Given the description of an element on the screen output the (x, y) to click on. 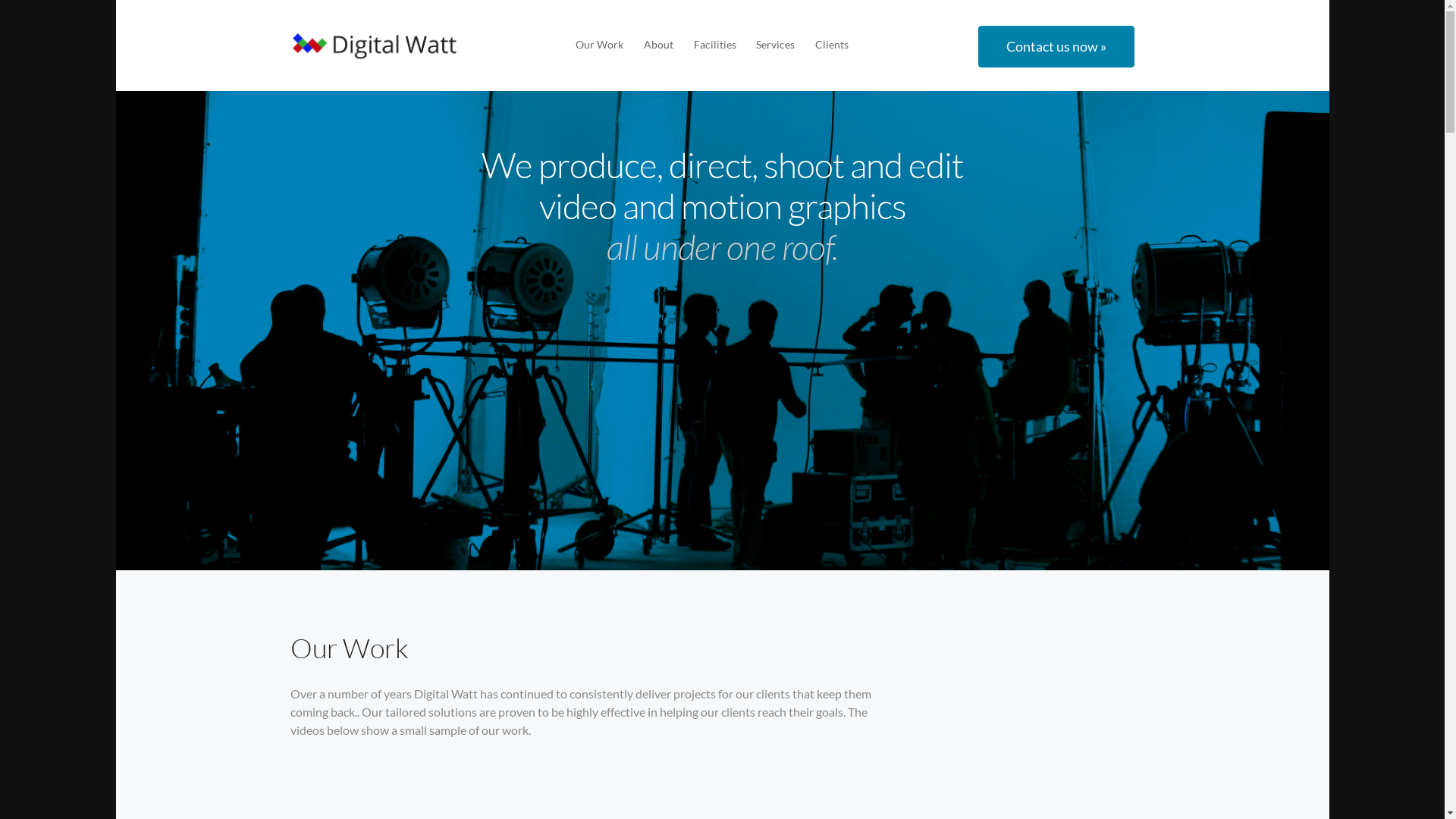
Our Work Element type: text (599, 43)
Facilities Element type: text (714, 43)
Clients Element type: text (831, 43)
About Element type: text (658, 43)
Services Element type: text (775, 43)
